Given the description of an element on the screen output the (x, y) to click on. 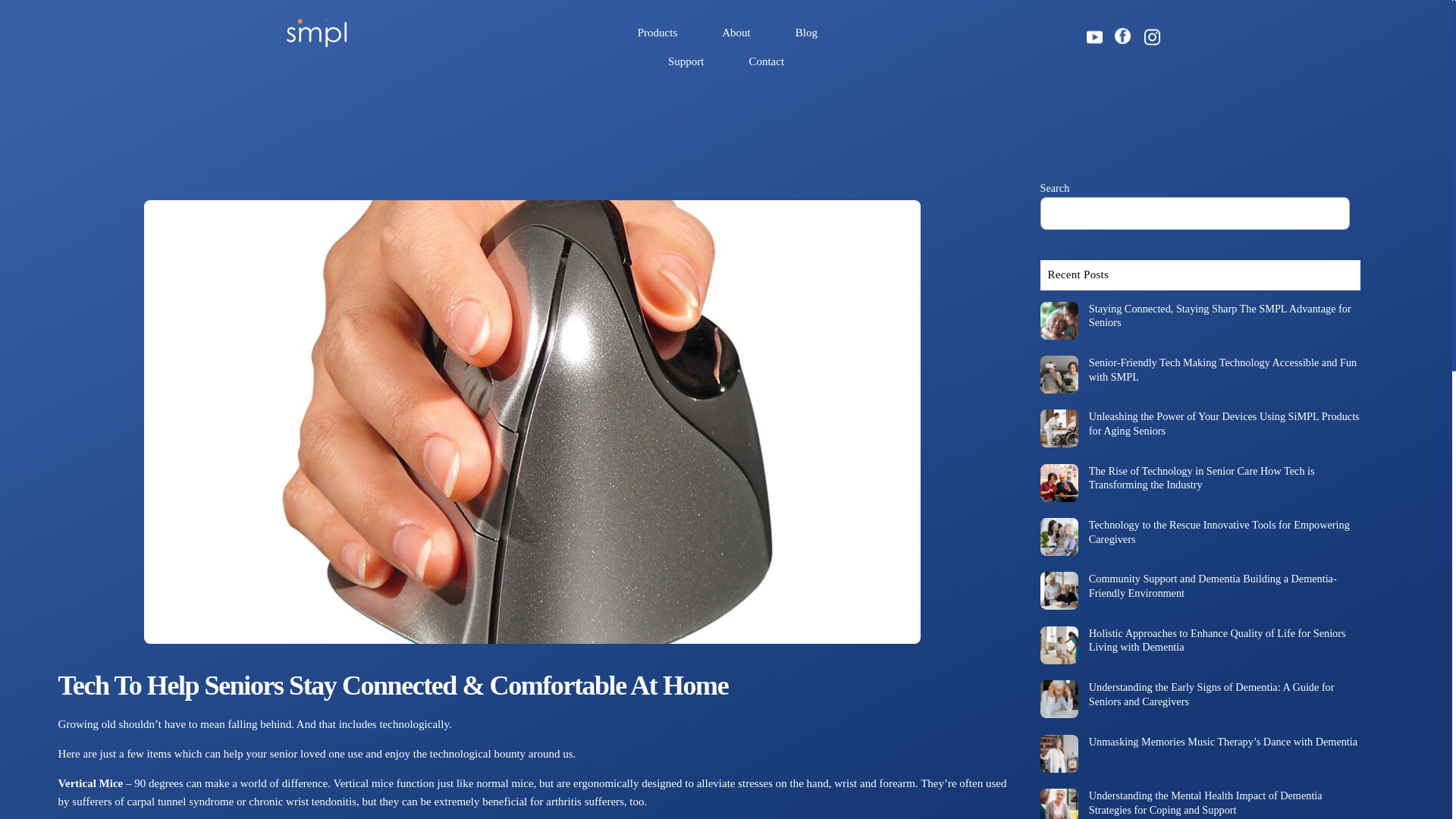
Icon label (1122, 35)
Icon label (1122, 35)
youtube (1094, 36)
Products (657, 32)
Blog (806, 32)
Support (685, 61)
About (735, 32)
